Given the description of an element on the screen output the (x, y) to click on. 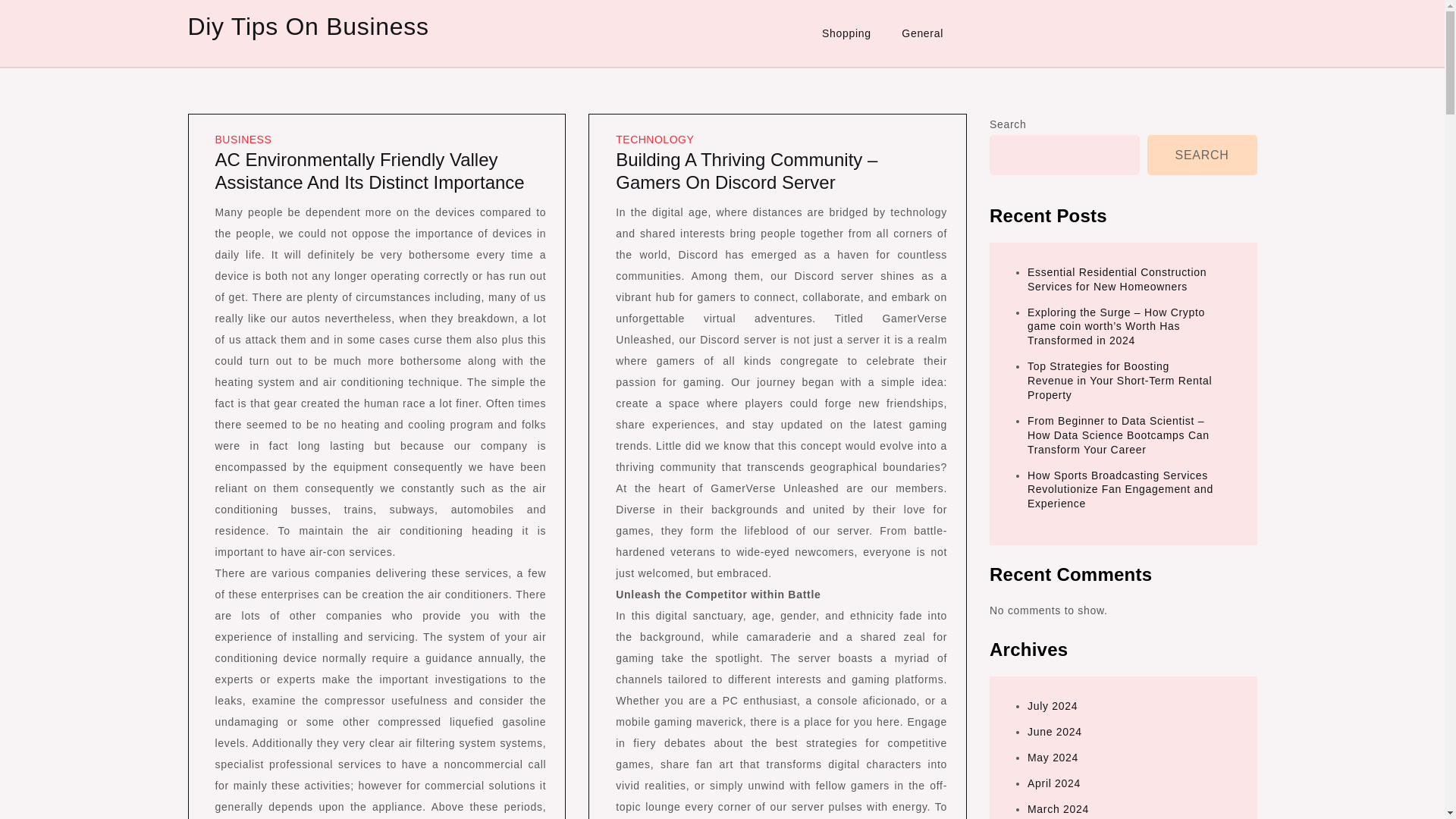
BUSINESS (243, 139)
Diy Tips On Business (308, 26)
General (922, 33)
TECHNOLOGY (654, 139)
Shopping (846, 33)
